Given the description of an element on the screen output the (x, y) to click on. 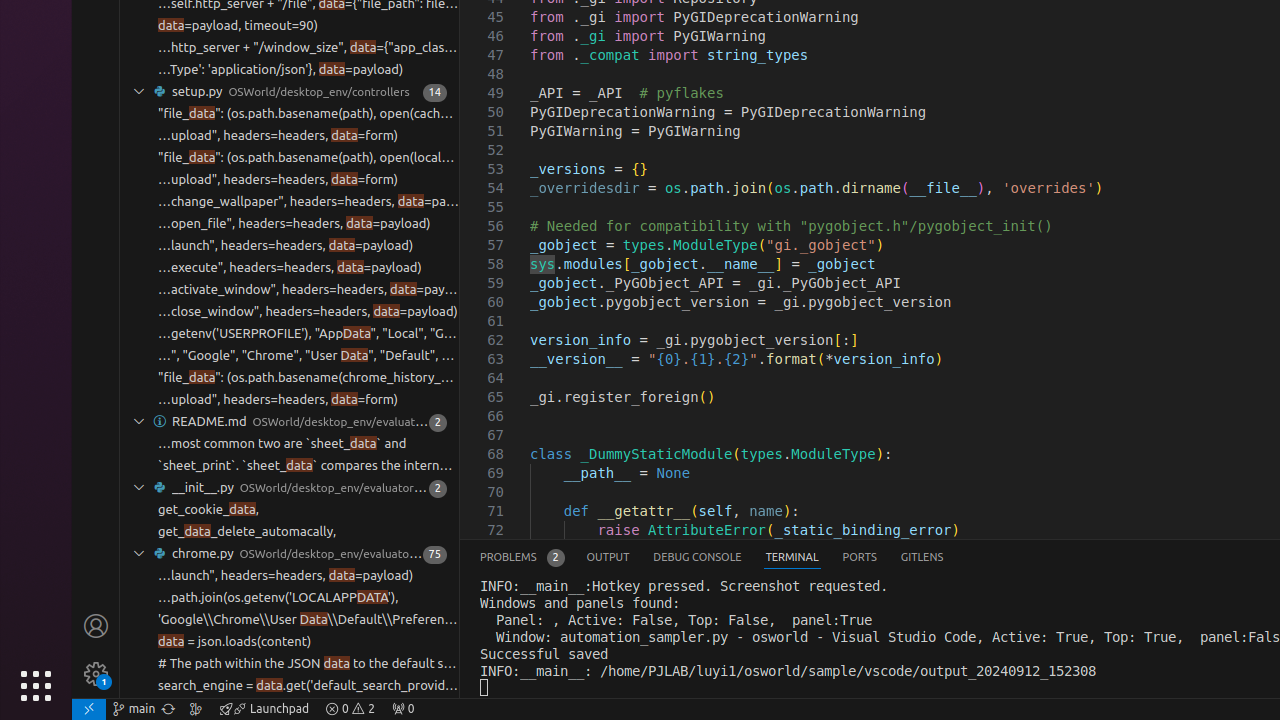
' """import os; print(os.path.join(os.getenv('USERPROFILE'), "AppData", "Local", "Google", "Chrome", "User Data", "Default", "History"))""")[' at column 122 found Data Element type: tree-item (289, 355)
"file_data": (os.path.basename(path), open(cache_path, "rb")) Element type: link (308, 113)
Output (Ctrl+K Ctrl+H) Element type: page-tab (608, 557)
Debug Console (Ctrl+Shift+Y) Element type: page-tab (697, 557)
' response = requests.post(self.http_server + "/setup" + "/upload", headers=headers, data=form)' at column 96 found data Element type: tree-item (289, 399)
